Given the description of an element on the screen output the (x, y) to click on. 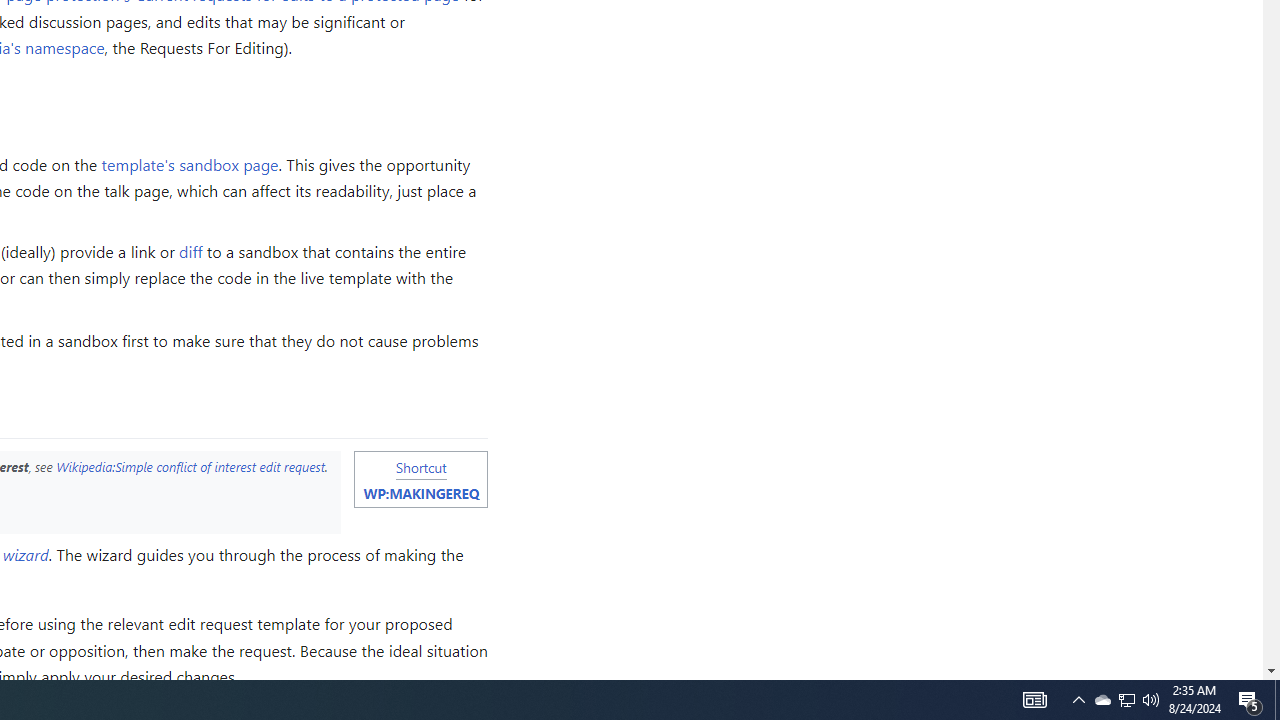
Shortcut (420, 466)
template's sandbox page (190, 163)
diff (191, 251)
WP:MAKINGEREQ (420, 493)
Wikipedia:Simple conflict of interest edit request (190, 466)
